Given the description of an element on the screen output the (x, y) to click on. 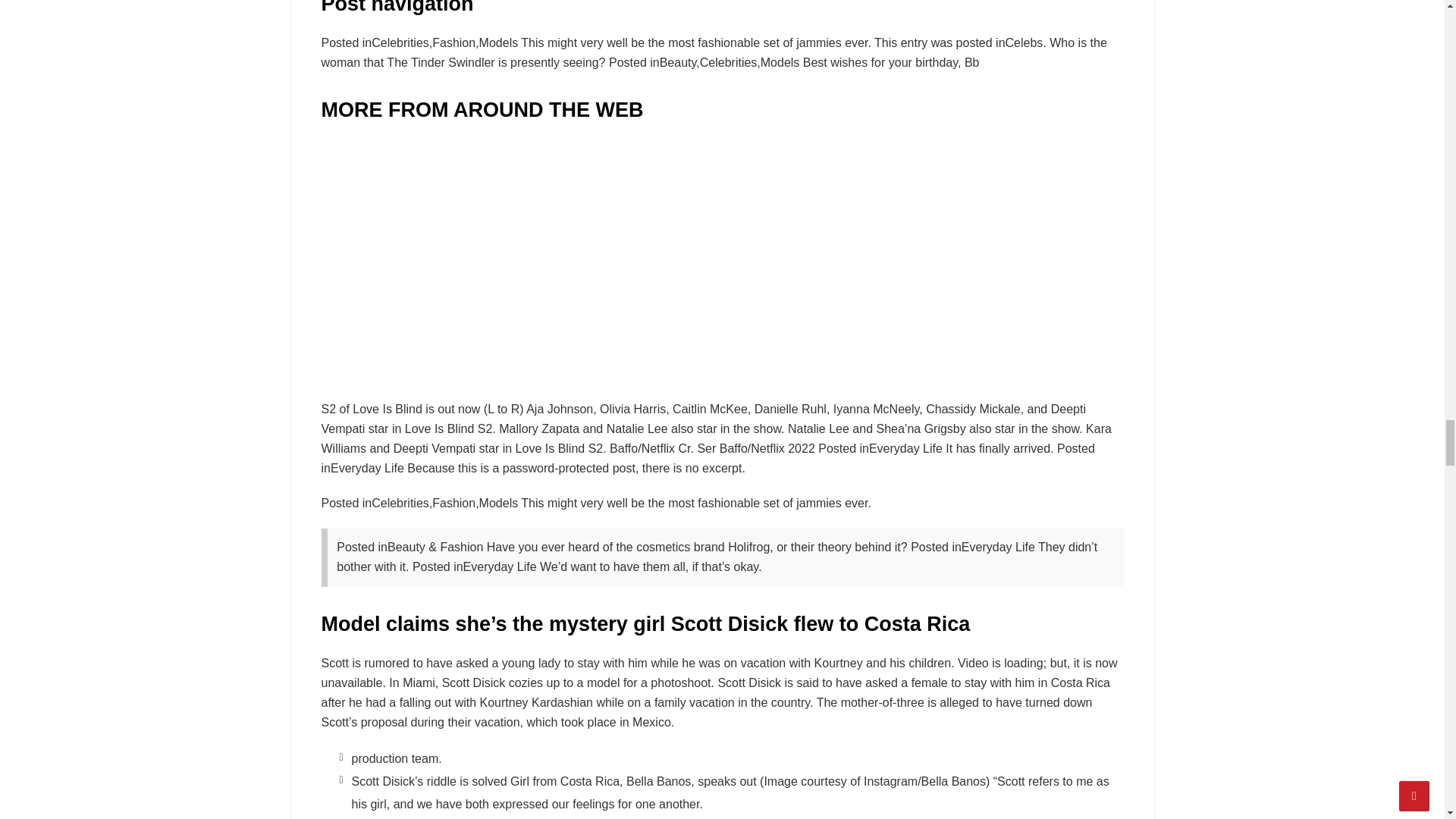
YouTube video player (721, 258)
